Given the description of an element on the screen output the (x, y) to click on. 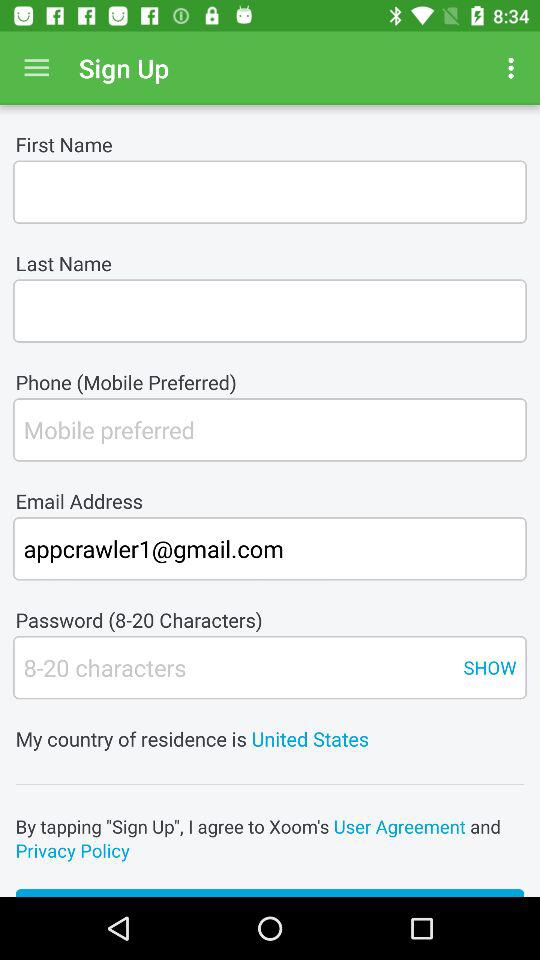
select the fifth checkbox (232, 667)
click on the icon last name (269, 310)
select the text which indicates privacy and policy (269, 838)
